Given the description of an element on the screen output the (x, y) to click on. 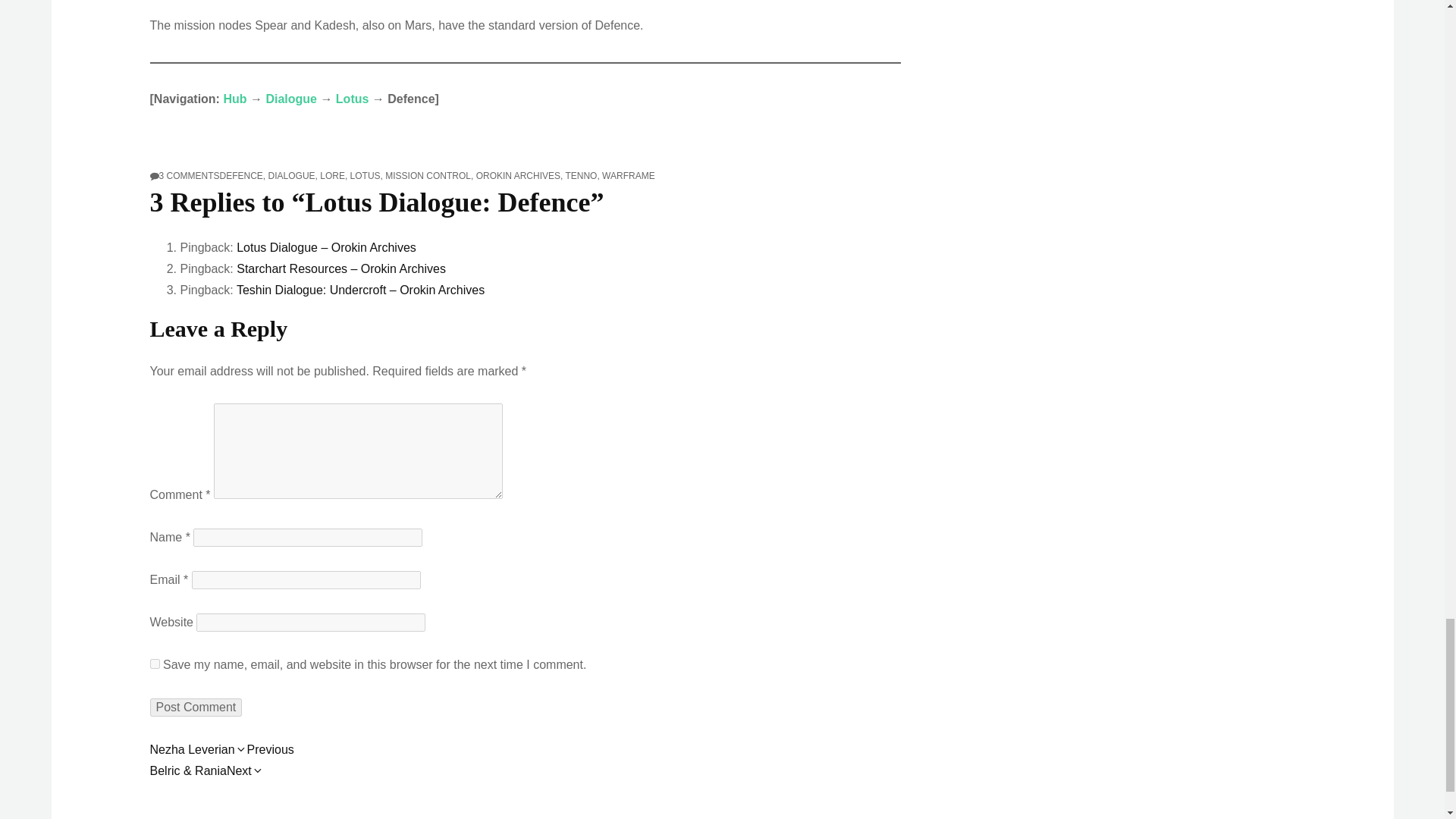
yes (154, 664)
Hub (234, 98)
Post Comment (196, 707)
Dialogue (188, 175)
Lotus (290, 98)
